Given the description of an element on the screen output the (x, y) to click on. 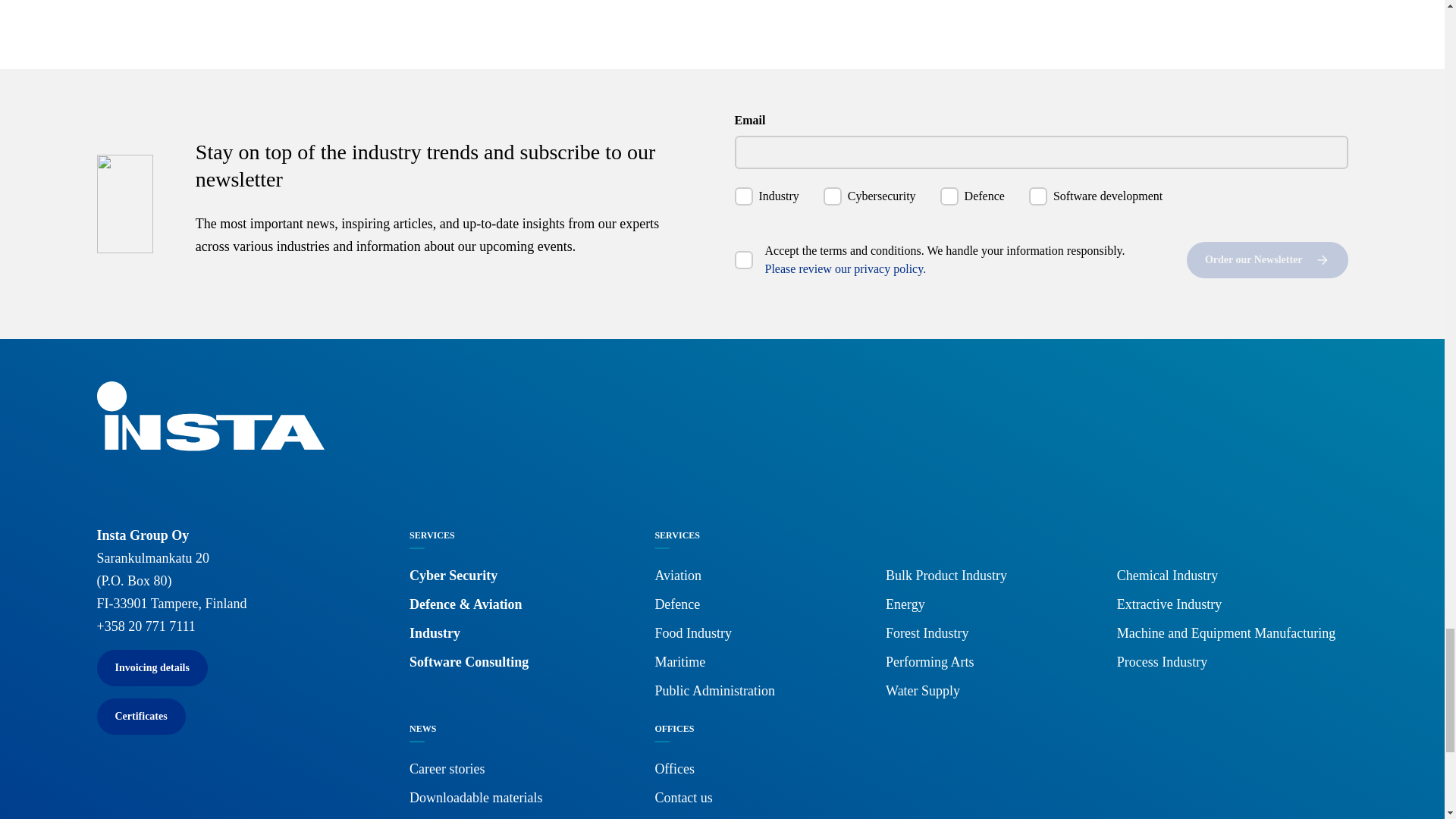
Please review our privacy policy. (845, 268)
defence (949, 196)
industry (742, 196)
cybersecurity (832, 196)
Order our Newsletter (1267, 259)
